Given the description of an element on the screen output the (x, y) to click on. 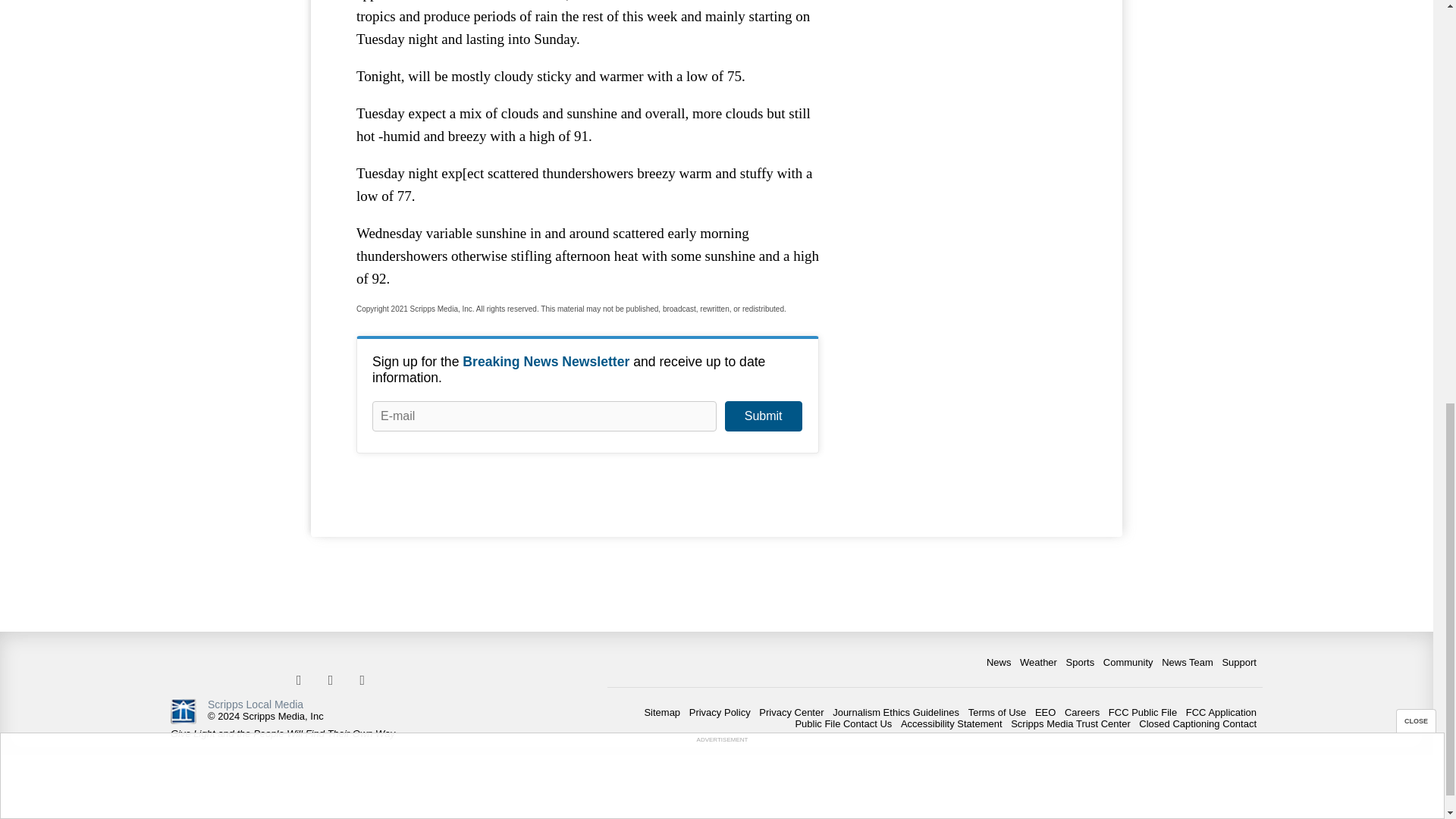
Submit (763, 416)
